Given the description of an element on the screen output the (x, y) to click on. 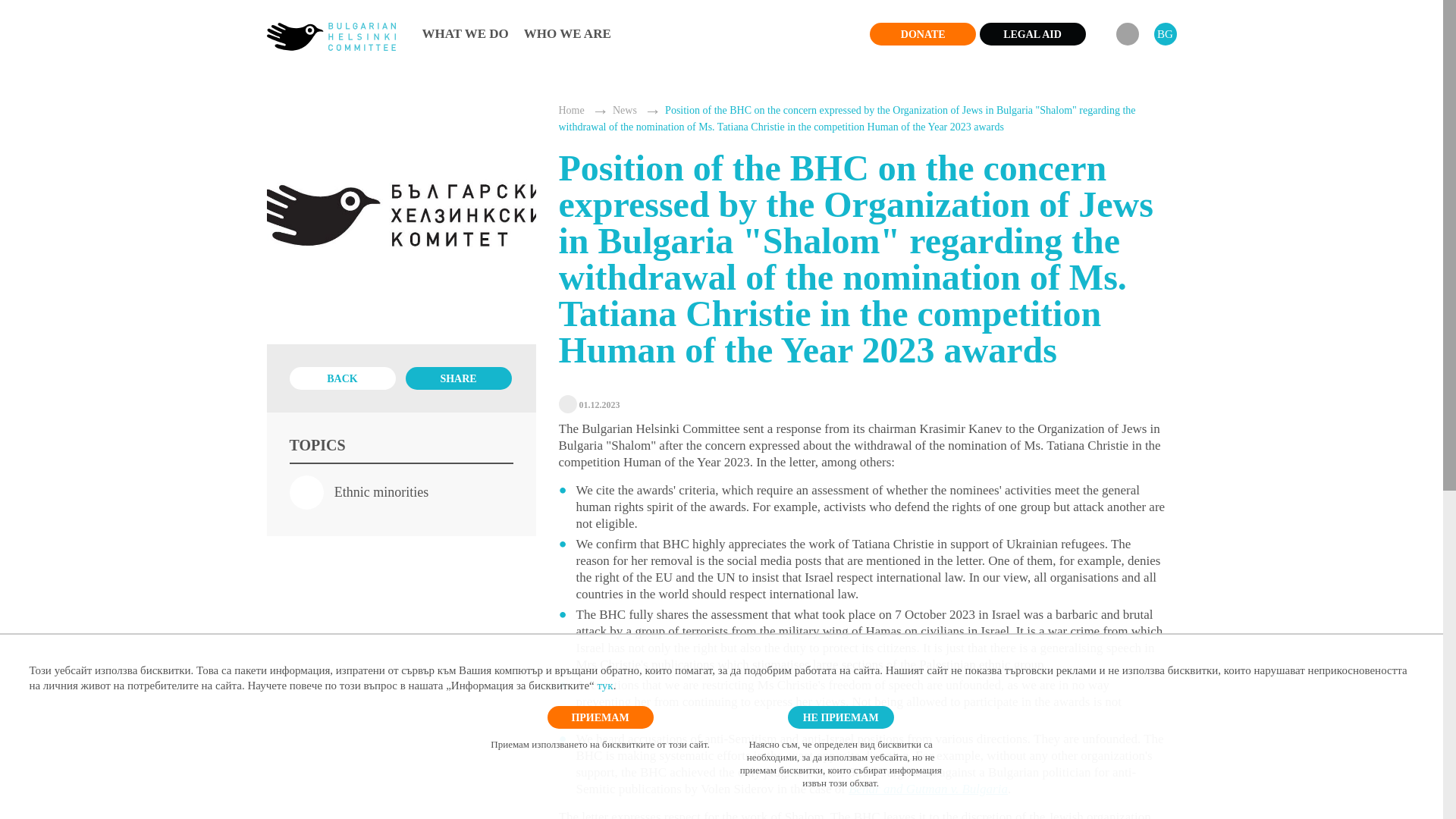
BG (1165, 33)
SHARE (457, 377)
LEGAL AID (1032, 33)
News (624, 110)
Ethnic minorities (359, 491)
WHAT WE DO (465, 33)
Home (570, 110)
BACK (342, 377)
DONATE (922, 33)
Behar and Gutman v. Bulgaria (927, 789)
WHO WE ARE (567, 33)
